Given the description of an element on the screen output the (x, y) to click on. 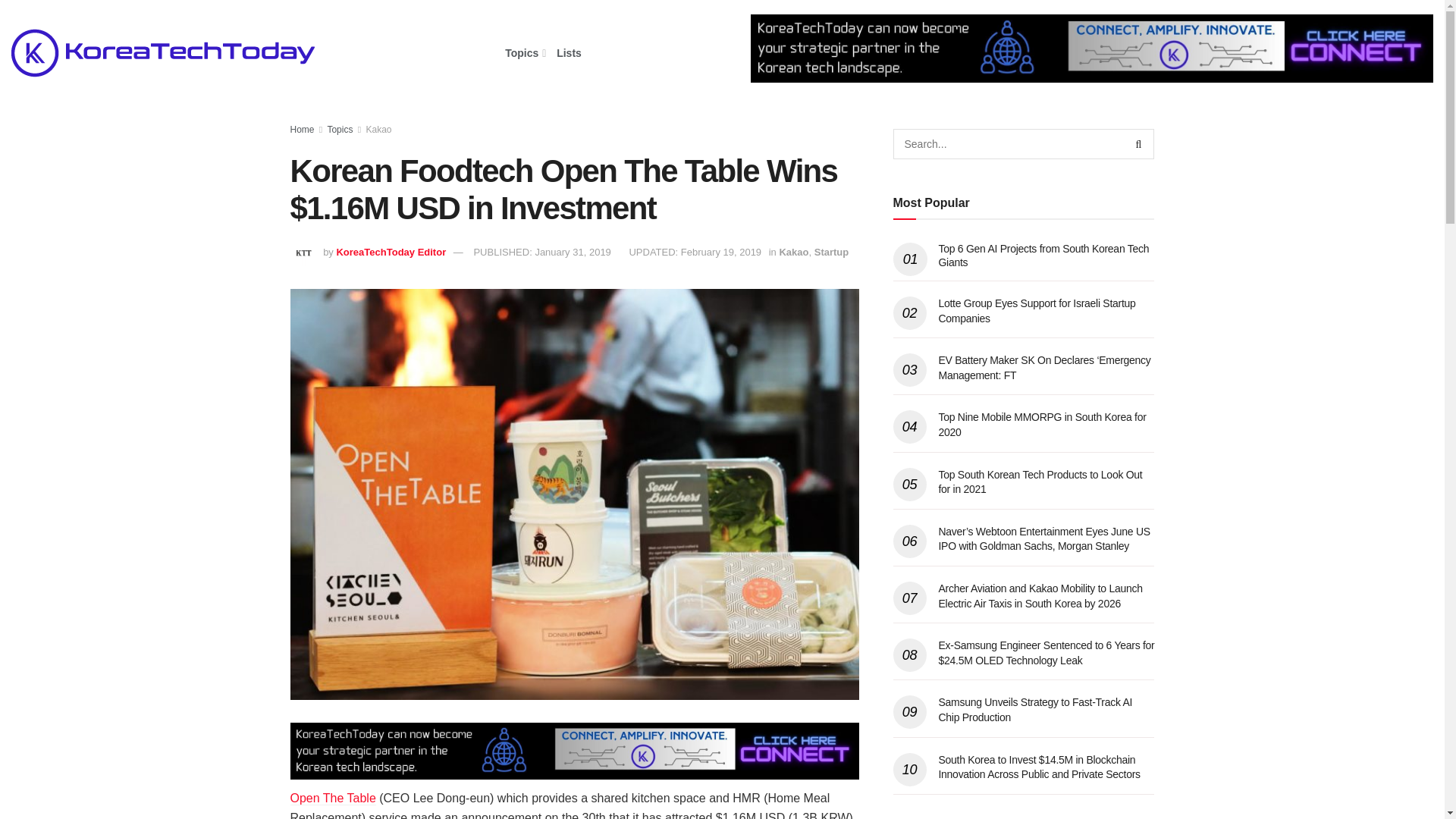
Topics (524, 53)
